Given the description of an element on the screen output the (x, y) to click on. 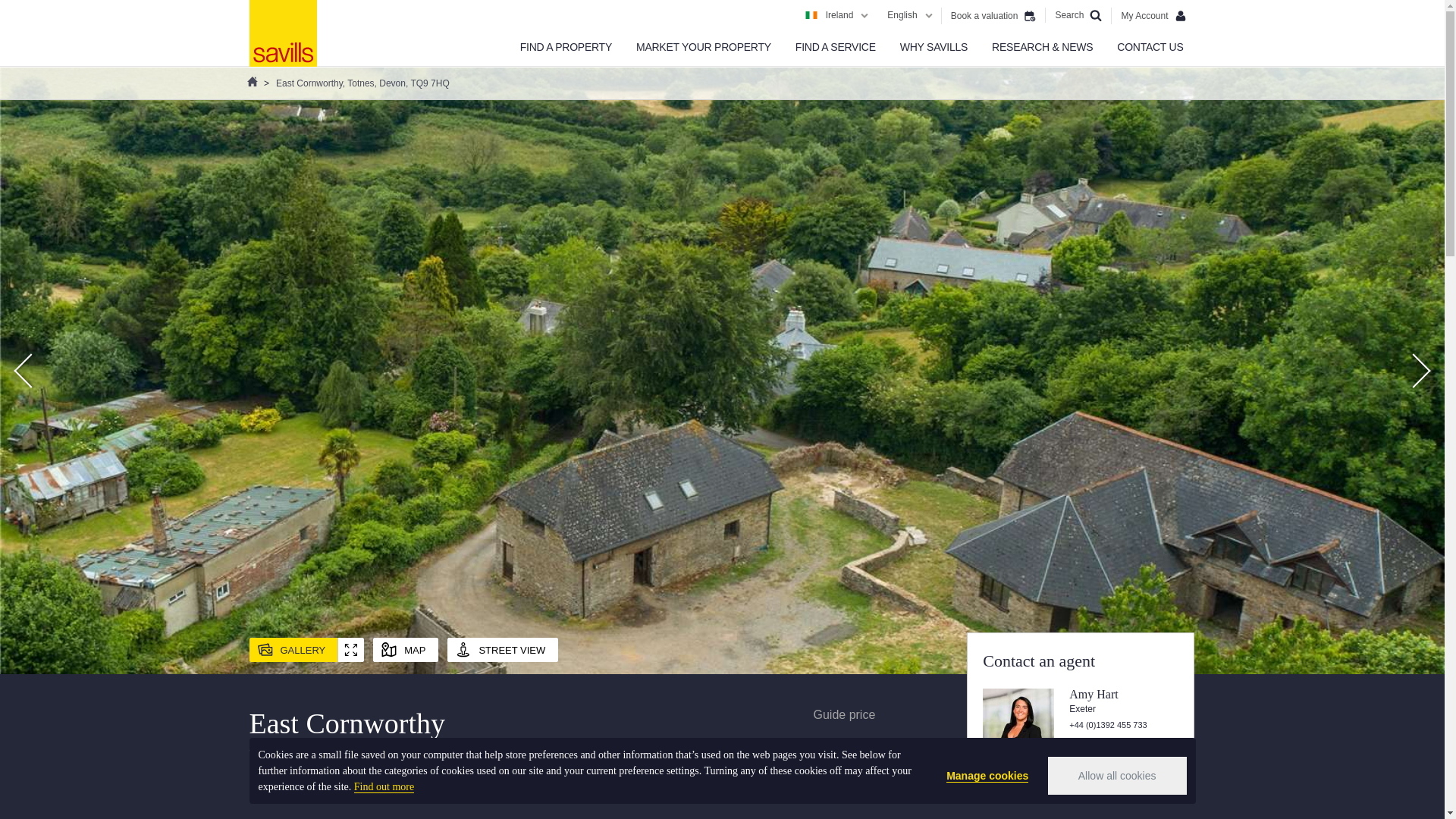
My Account (1152, 15)
Go to homepage (281, 33)
Allow all cookies (1117, 775)
Find out more (383, 787)
Search (1077, 14)
Book a valuation (992, 15)
Manage cookies (986, 775)
FIND A PROPERTY (565, 46)
